Given the description of an element on the screen output the (x, y) to click on. 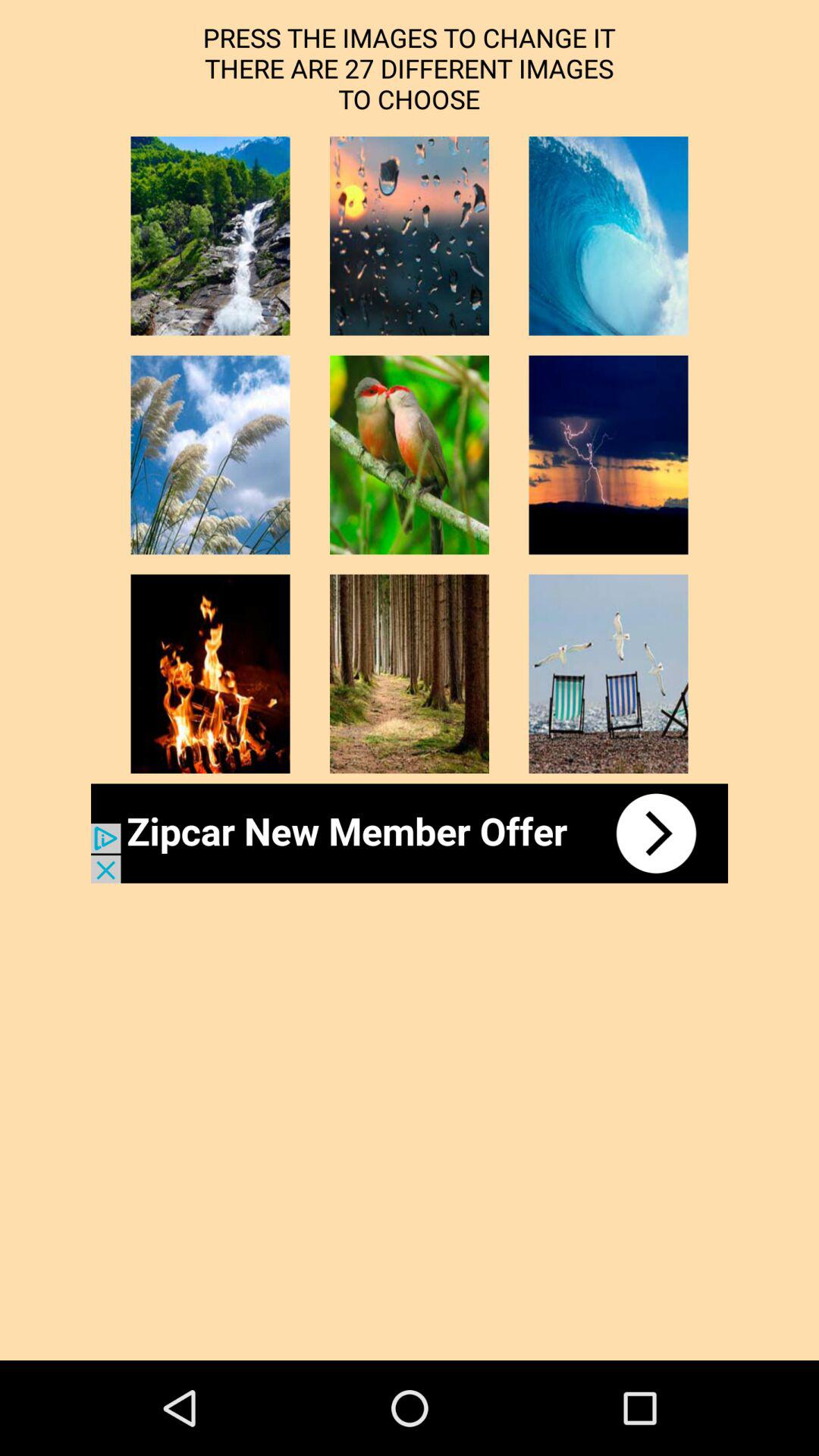
open chosen picture (608, 454)
